Given the description of an element on the screen output the (x, y) to click on. 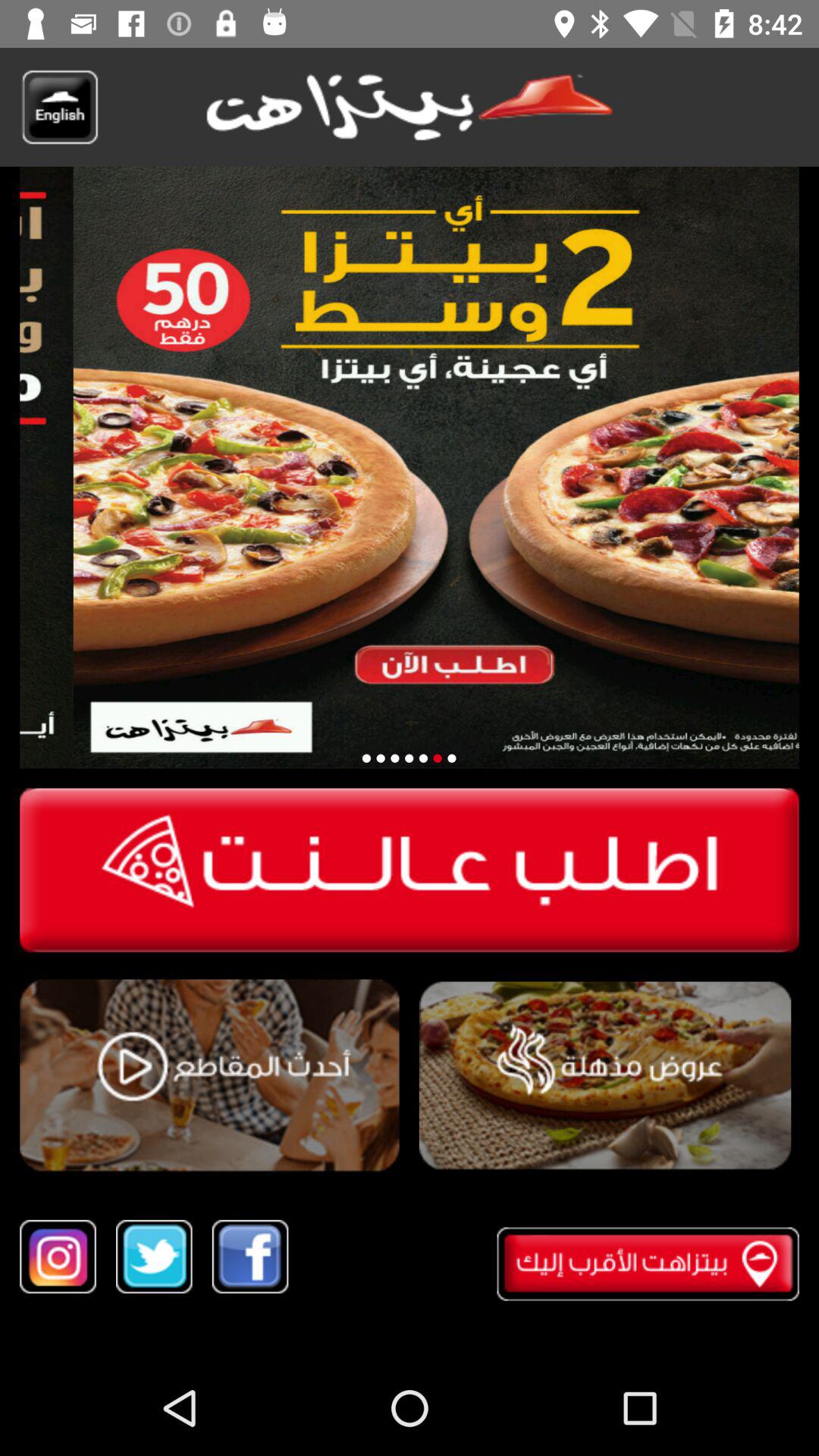
next image (437, 758)
